Given the description of an element on the screen output the (x, y) to click on. 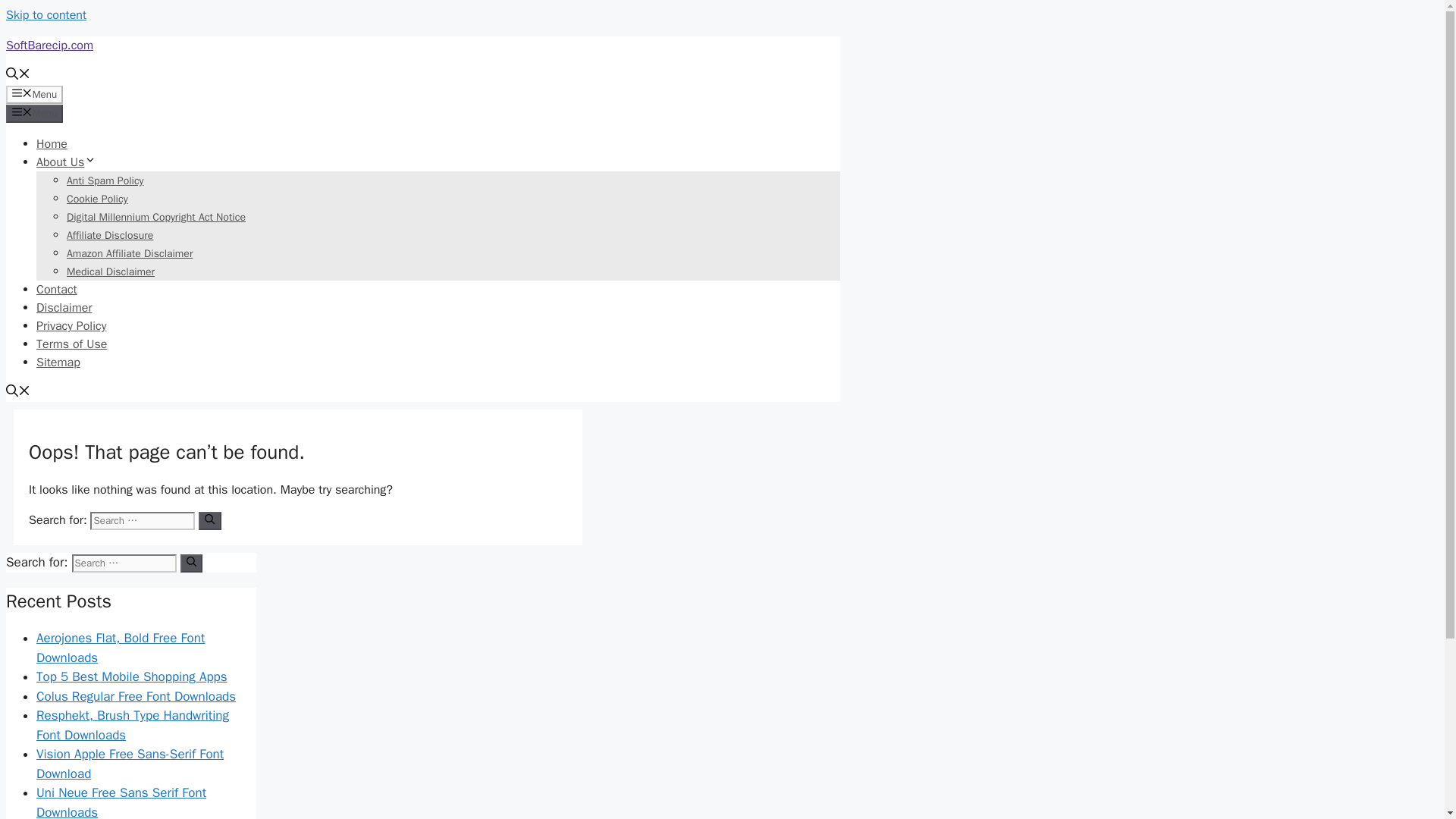
SoftBarecip.com (49, 45)
Contact (56, 289)
Anti Spam Policy (105, 180)
Colus Regular Free Font Downloads (135, 696)
Cookie Policy (97, 198)
Disclaimer (63, 307)
Digital Millennium Copyright Act Notice (156, 216)
Aerojones Flat, Bold Free Font Downloads (120, 647)
Medical Disclaimer (110, 271)
Skip to content (45, 14)
